Given the description of an element on the screen output the (x, y) to click on. 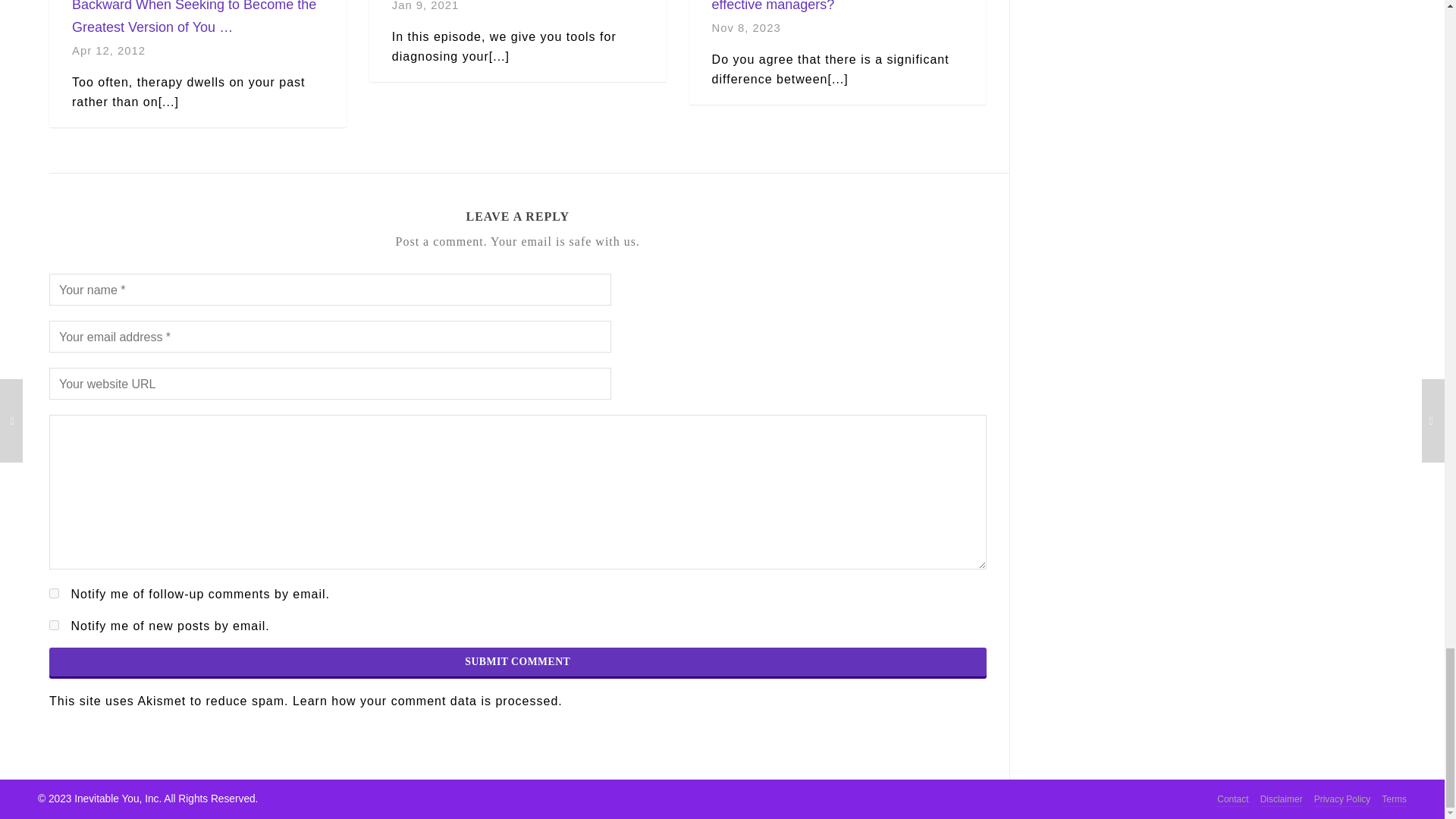
Submit Comment (518, 661)
Submit Comment (518, 661)
subscribe (54, 624)
subscribe (54, 593)
Learn how your comment data is processed (424, 700)
What separates elite leaders from effective managers? (813, 6)
